Given the description of an element on the screen output the (x, y) to click on. 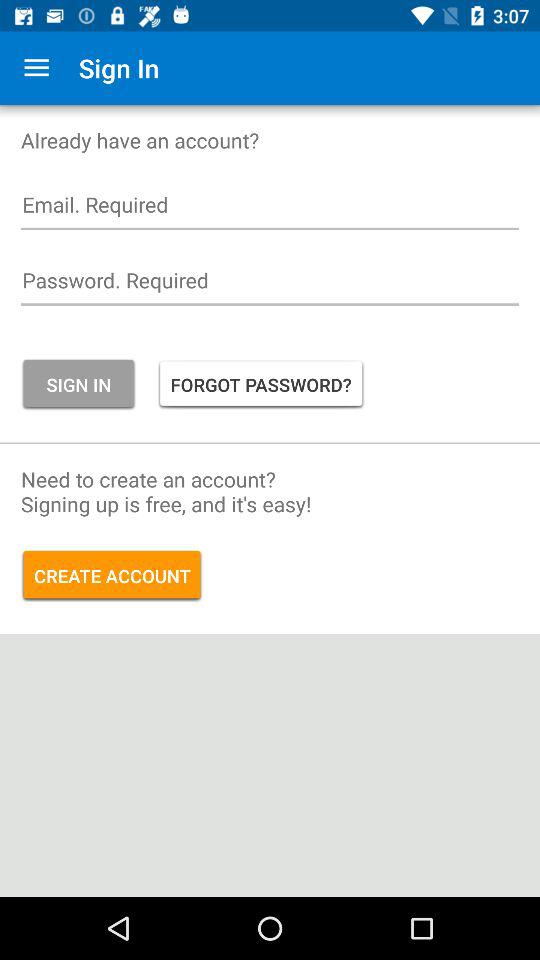
click item next to sign in (36, 68)
